Given the description of an element on the screen output the (x, y) to click on. 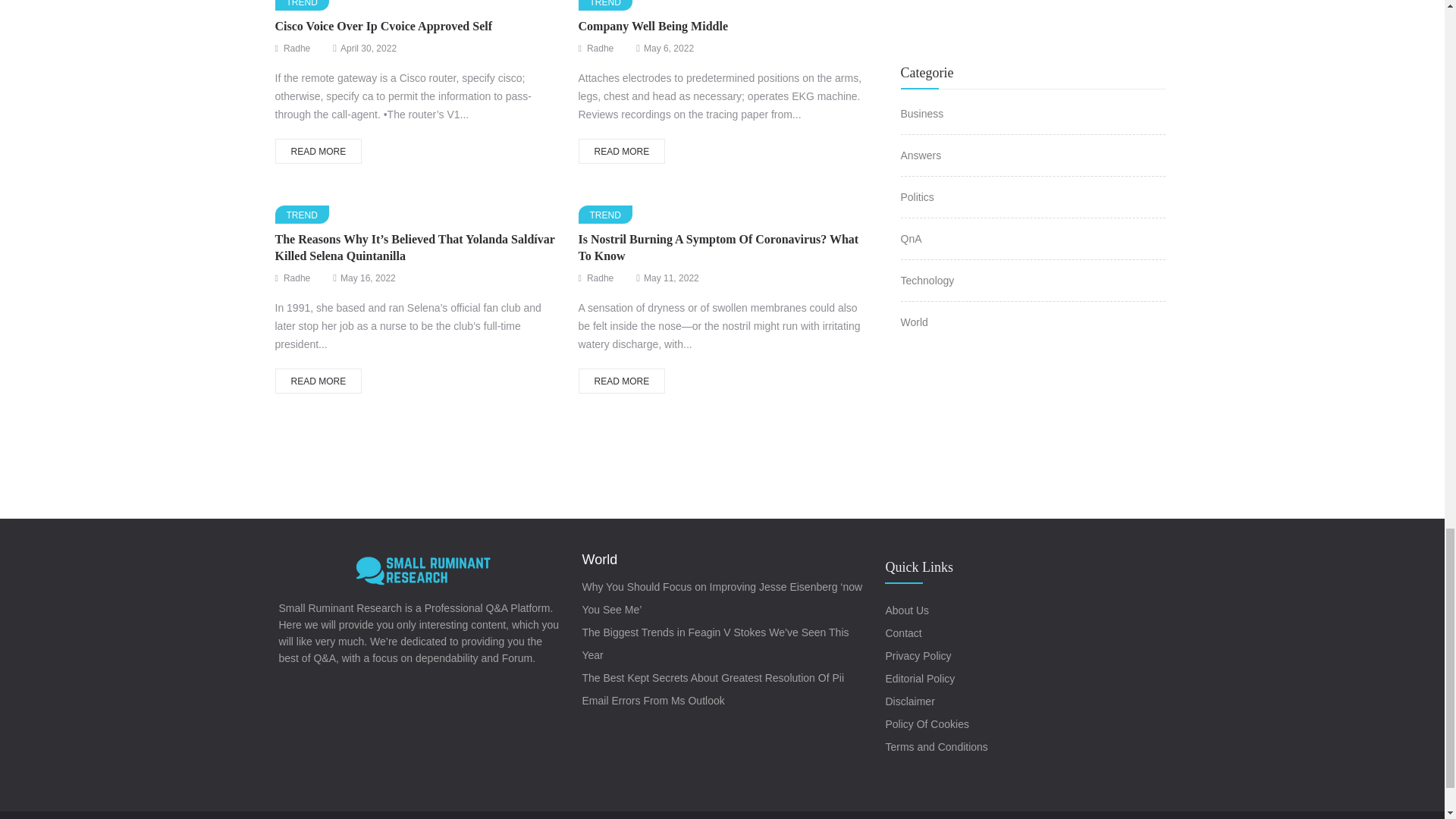
Radhe (296, 48)
May 6, 2022 (668, 48)
Radhe (599, 48)
TREND (302, 214)
TREND (604, 5)
TREND (302, 5)
Company Well Being Middle (653, 25)
READ MORE (318, 150)
Cisco Voice Over Ip Cvoice Approved Self (383, 25)
April 30, 2022 (368, 48)
READ MORE (621, 150)
